Given the description of an element on the screen output the (x, y) to click on. 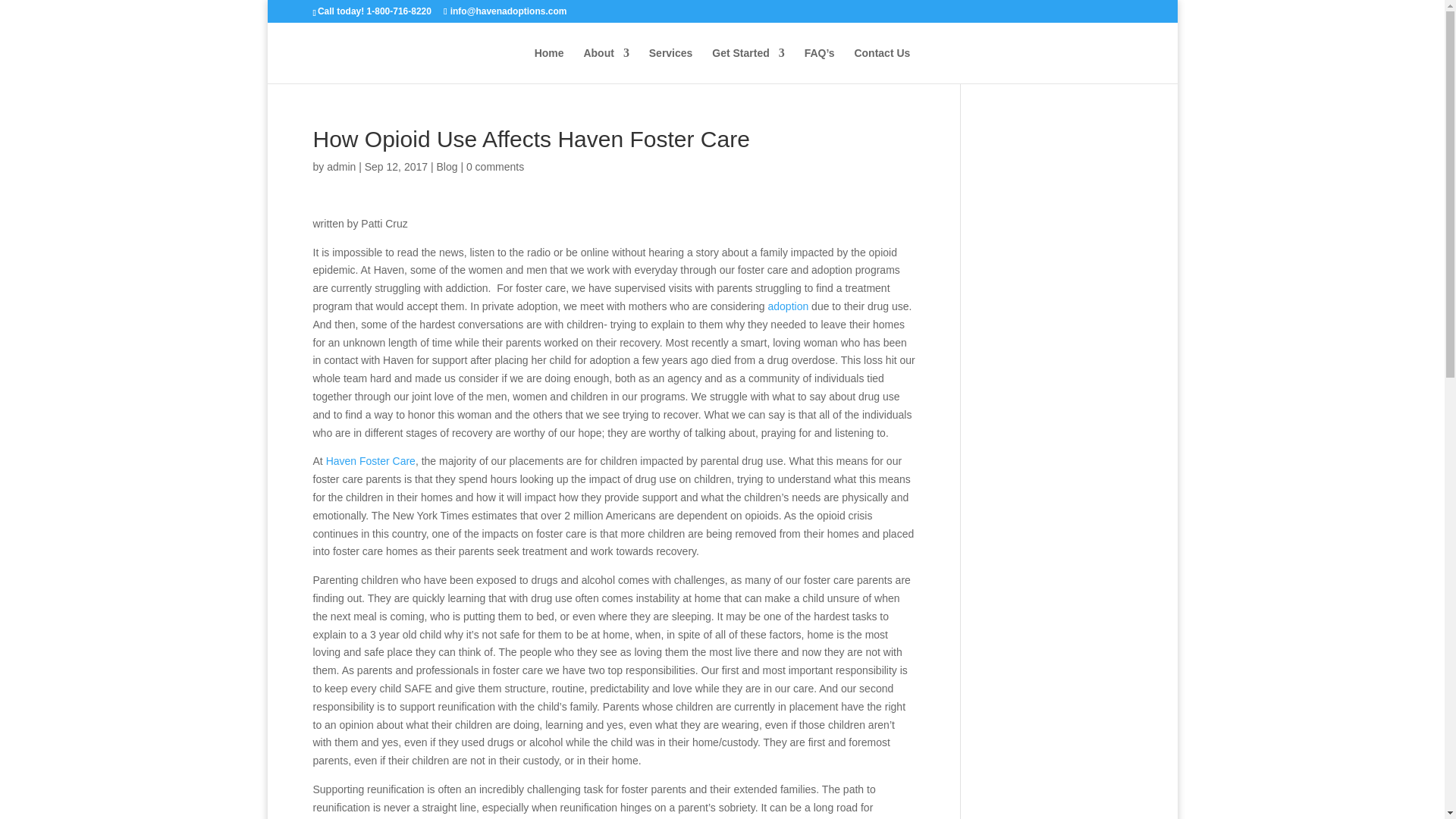
Haven Foster Care (370, 460)
Get Started (747, 65)
admin (340, 166)
Posts by admin (340, 166)
Blog (446, 166)
Contact Us (881, 65)
Home (549, 65)
About (605, 65)
adoption (787, 306)
0 comments (494, 166)
Services (671, 65)
